Given the description of an element on the screen output the (x, y) to click on. 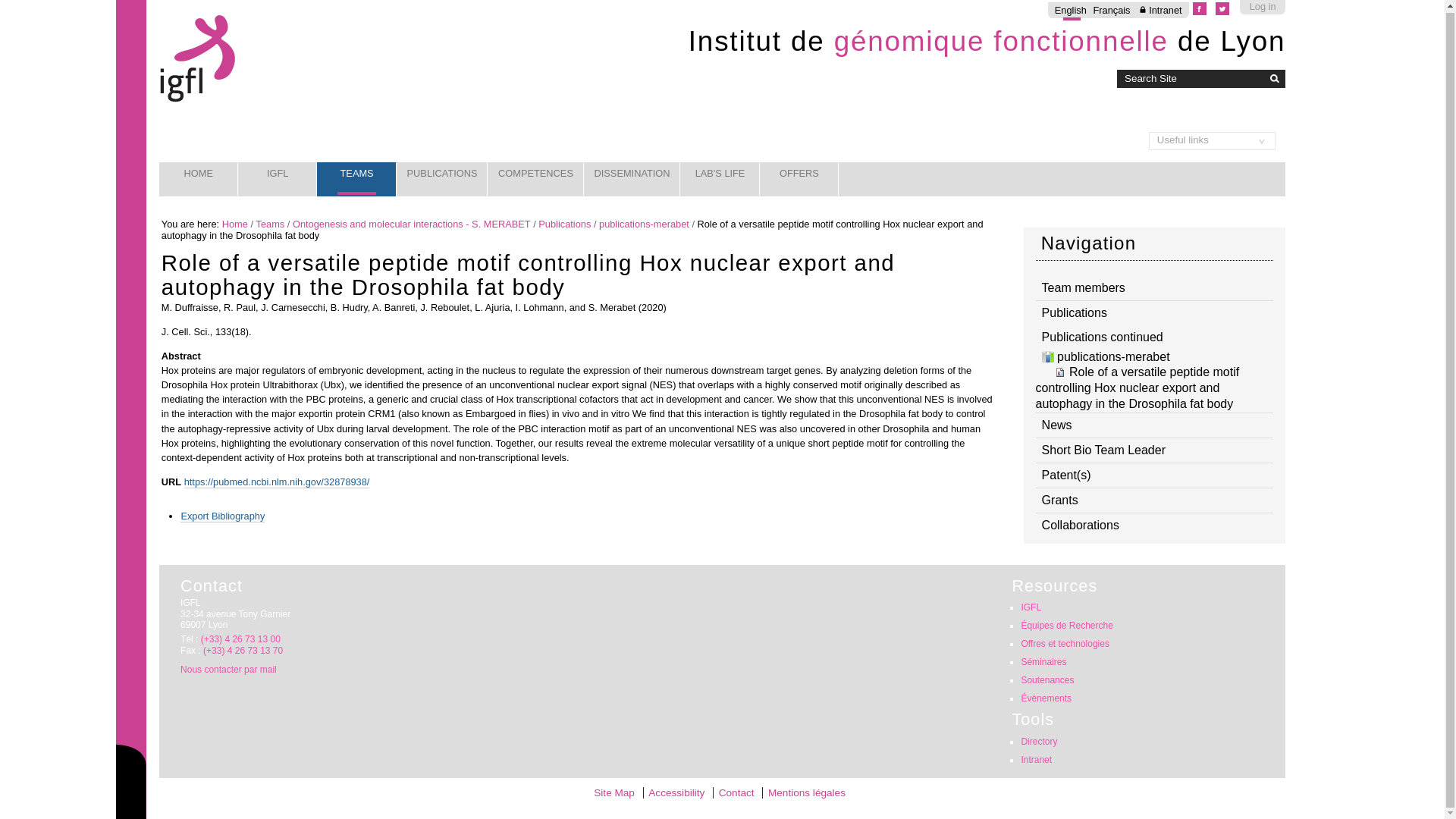
English (1070, 9)
HOME (198, 179)
PUBLICATIONS (441, 179)
IGFL (277, 179)
English (1070, 9)
TEAMS (356, 179)
Intranet (1158, 9)
Skip to content. (178, 18)
Authentication required (1158, 9)
